Given the description of an element on the screen output the (x, y) to click on. 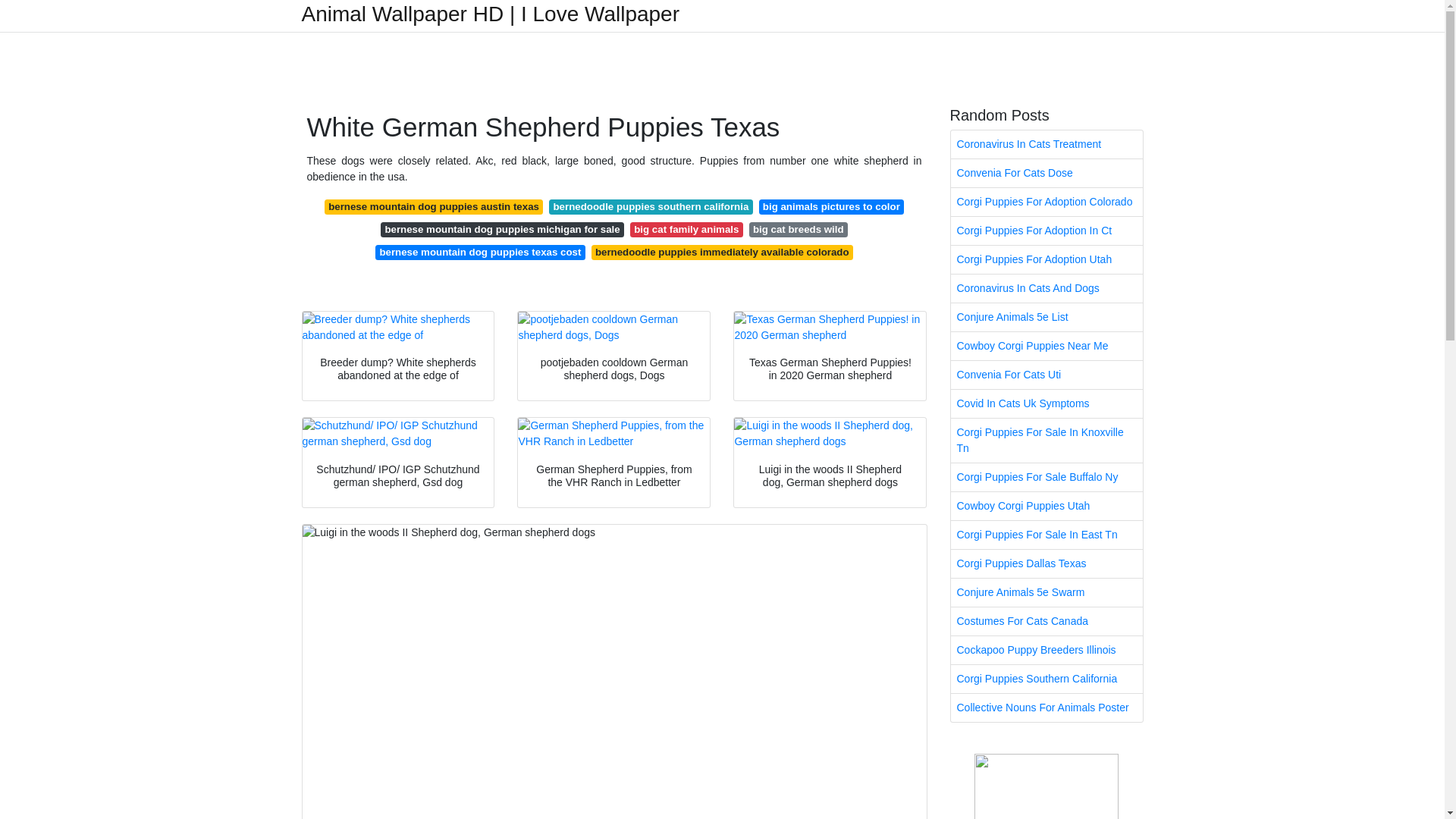
big cat breeds wild (798, 229)
Corgi Puppies For Adoption Colorado (1046, 202)
bernese mountain dog puppies texas cost (480, 252)
Corgi Puppies For Adoption In Ct (1046, 230)
Coronavirus In Cats Treatment (1046, 144)
Convenia For Cats Dose (1046, 172)
Coronavirus In Cats And Dogs (1046, 288)
Convenia For Cats Uti (1046, 375)
Cowboy Corgi Puppies Near Me (1046, 346)
big animals pictures to color (831, 206)
Covid In Cats Uk Symptoms (1046, 403)
bernese mountain dog puppies michigan for sale (502, 229)
big cat family animals (686, 229)
bernese mountain dog puppies austin texas (433, 206)
bernedoodle puppies immediately available colorado (722, 252)
